Given the description of an element on the screen output the (x, y) to click on. 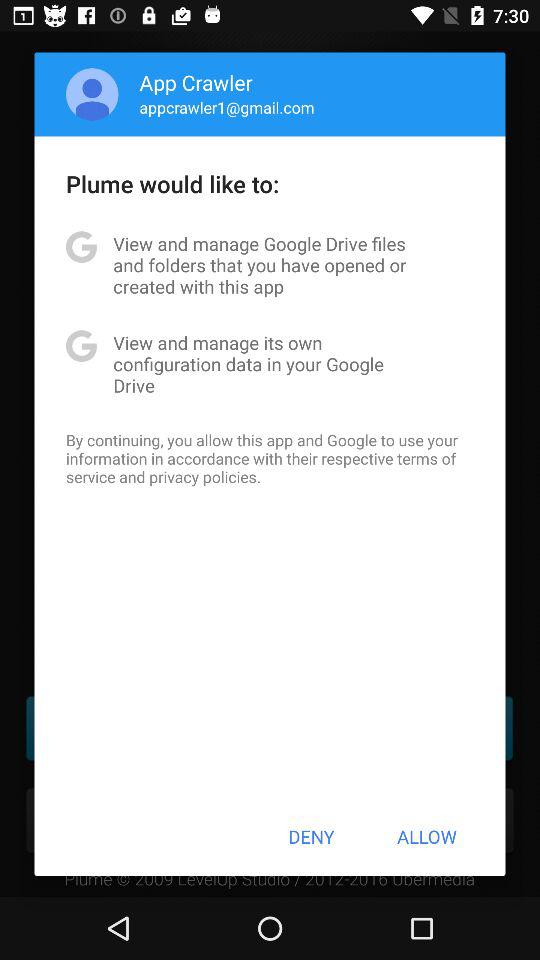
turn off the app crawler icon (195, 82)
